Given the description of an element on the screen output the (x, y) to click on. 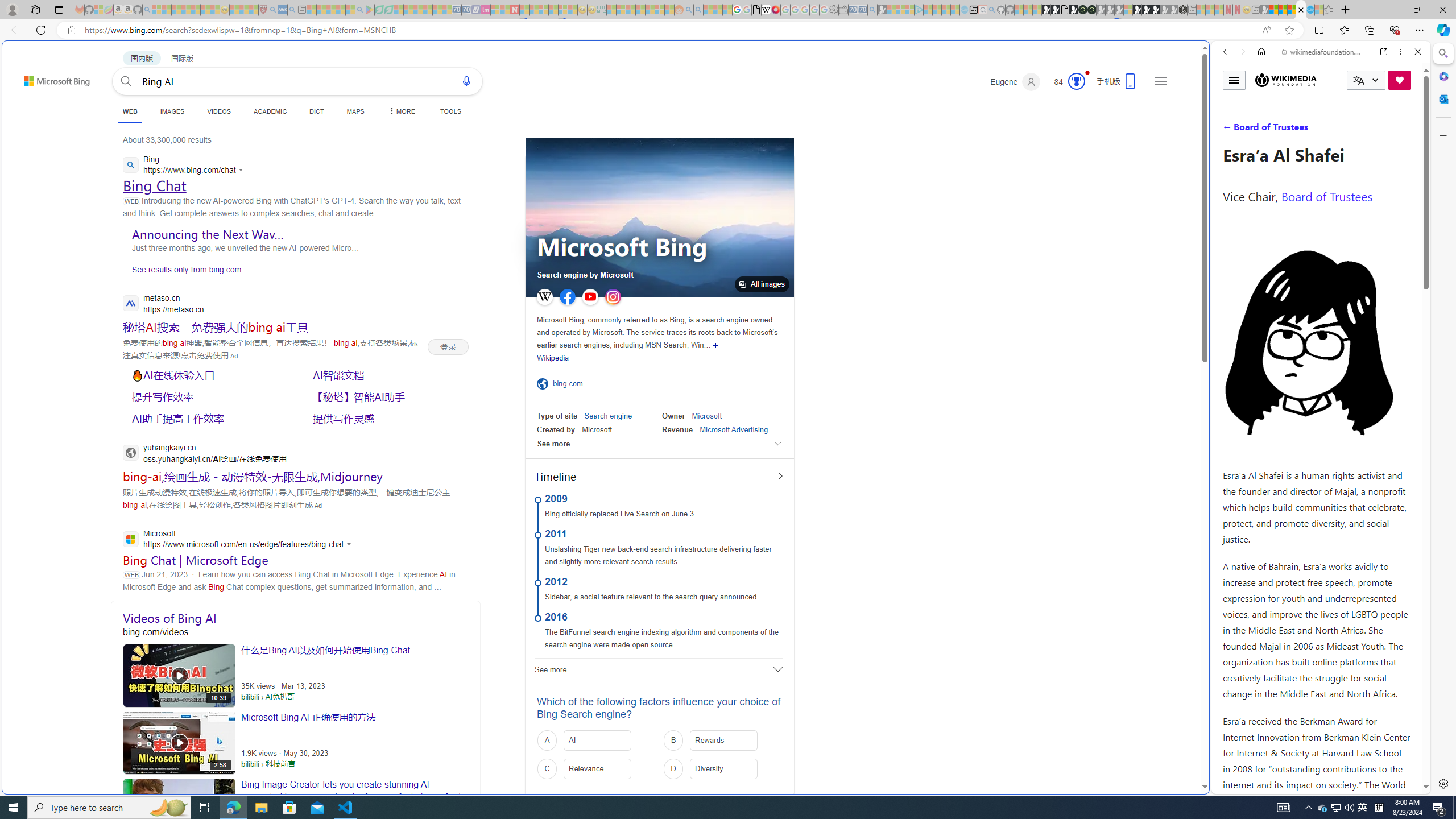
Play Free Online Games | Games from Microsoft Start (1146, 9)
Expert Portfolios - Sleeping (639, 9)
AutomationID: mfa_root (1161, 752)
Kinda Frugal - MSN - Sleeping (649, 9)
TOOLS (450, 111)
Board of Trustees (1326, 195)
google_privacy_policy_zh-CN.pdf (755, 9)
